Given the description of an element on the screen output the (x, y) to click on. 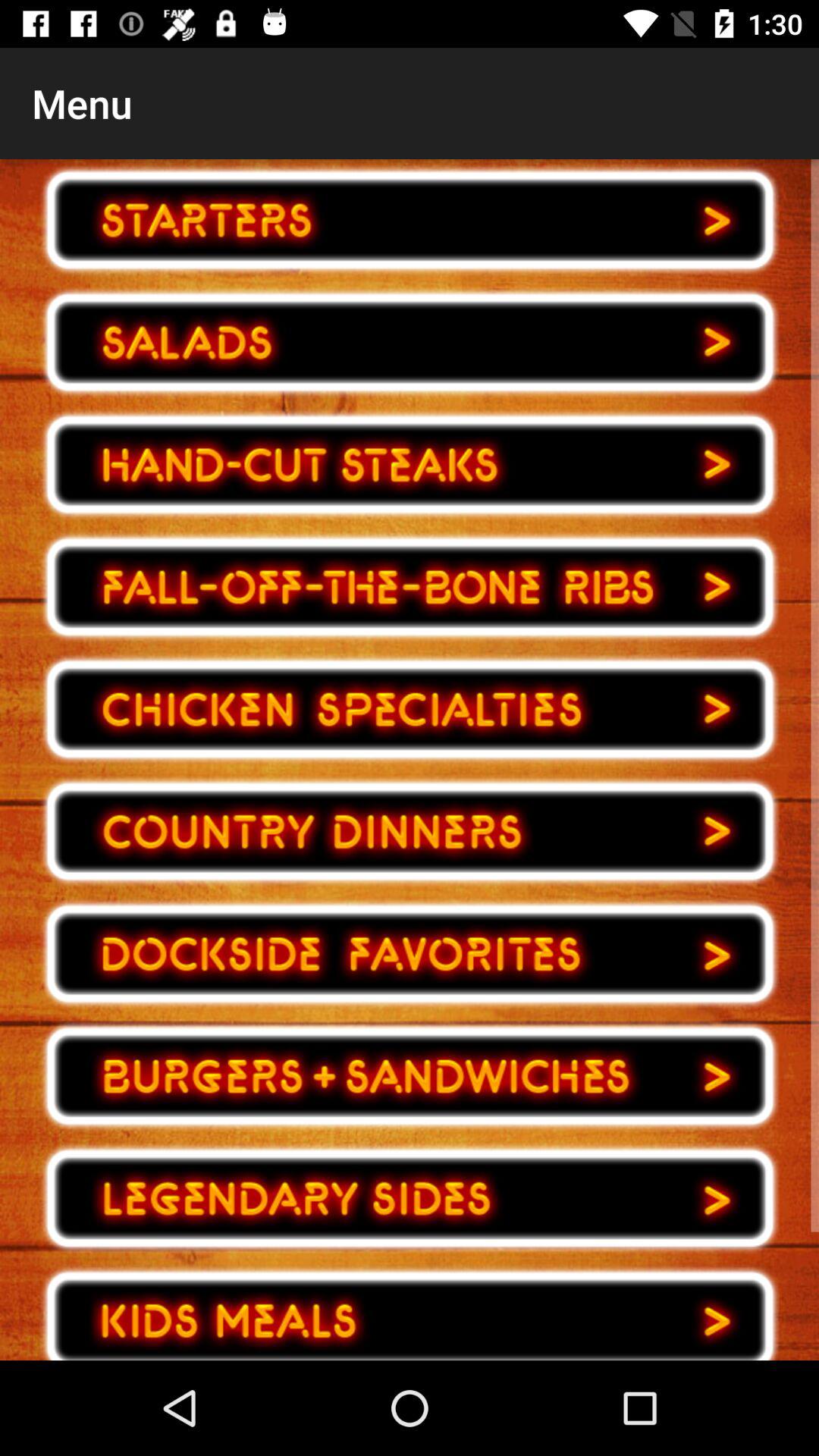
country dinners (409, 831)
